Given the description of an element on the screen output the (x, y) to click on. 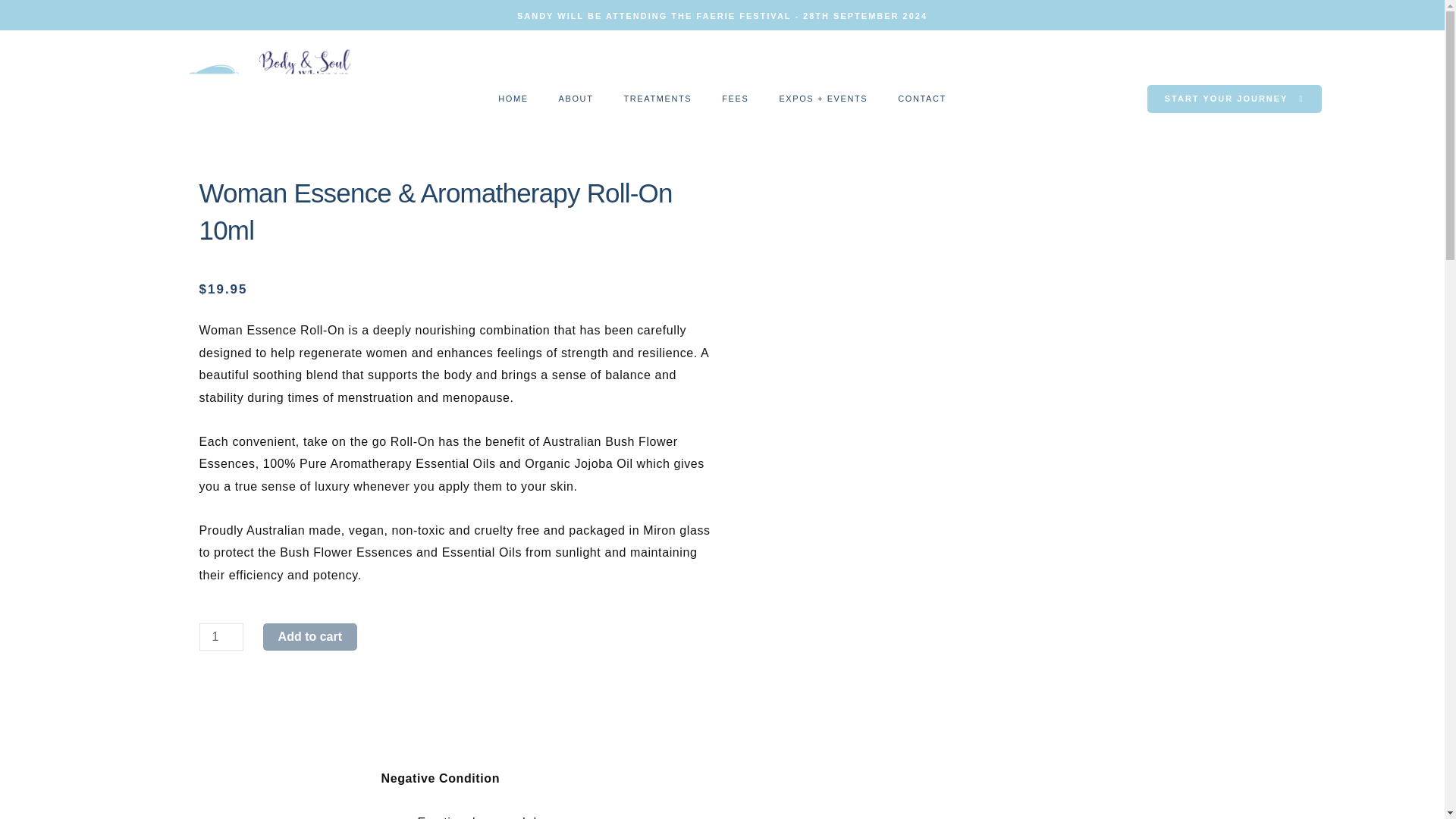
1 (220, 636)
FEES (734, 98)
TREATMENTS (657, 98)
Add to cart (309, 636)
START YOUR JOURNEY (1234, 99)
ABOUT (575, 98)
HOME (513, 98)
CONTACT (921, 98)
